Given the description of an element on the screen output the (x, y) to click on. 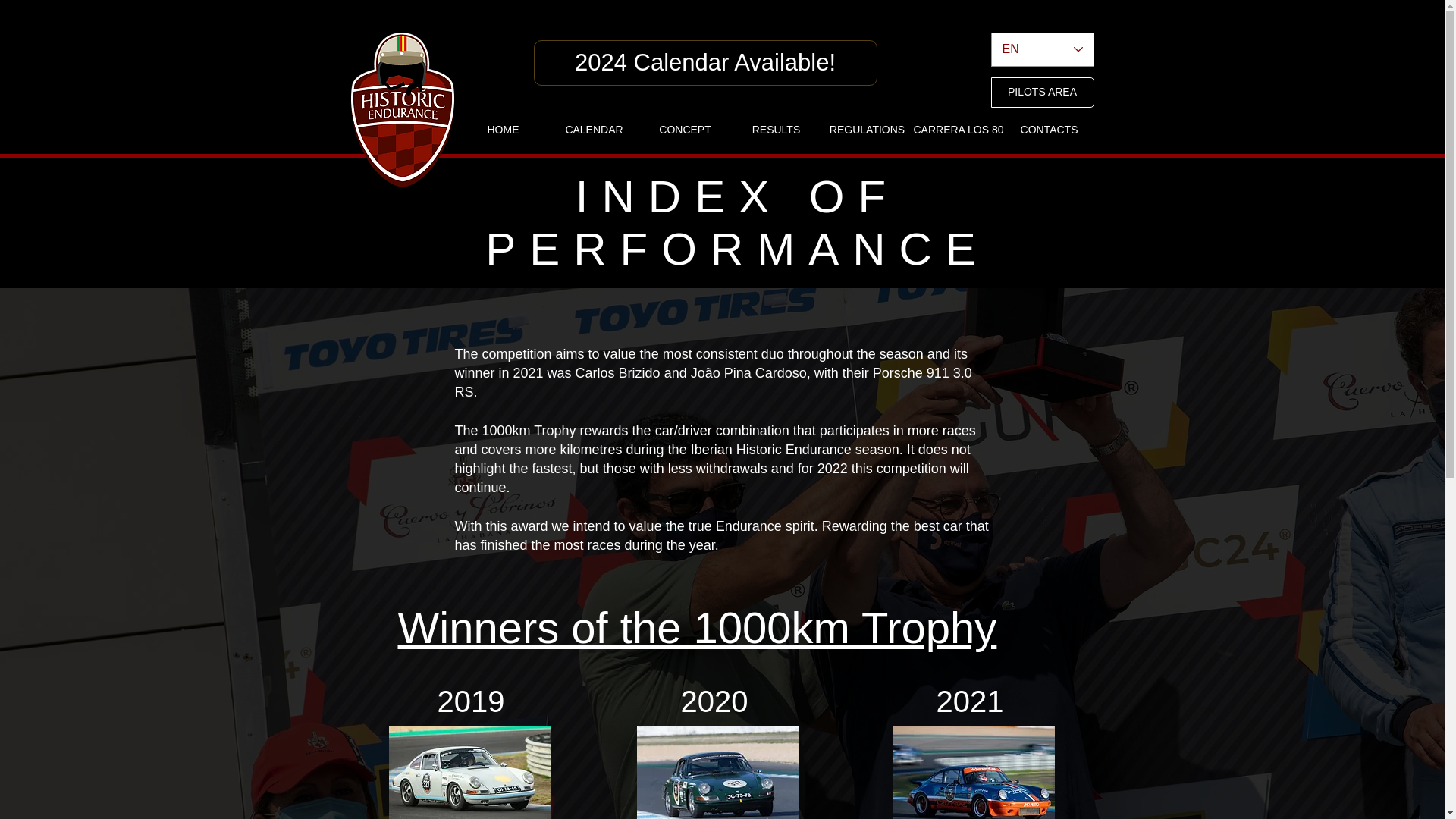
REGULATIONS (866, 130)
2024 Calendar Available! (705, 62)
CONCEPT (684, 130)
RESULTS (775, 130)
CONTACTS (1048, 130)
HOME (502, 130)
CALENDAR (593, 130)
CARRERA LOS 80 (957, 130)
PILOTS AREA (1041, 91)
